Given the description of an element on the screen output the (x, y) to click on. 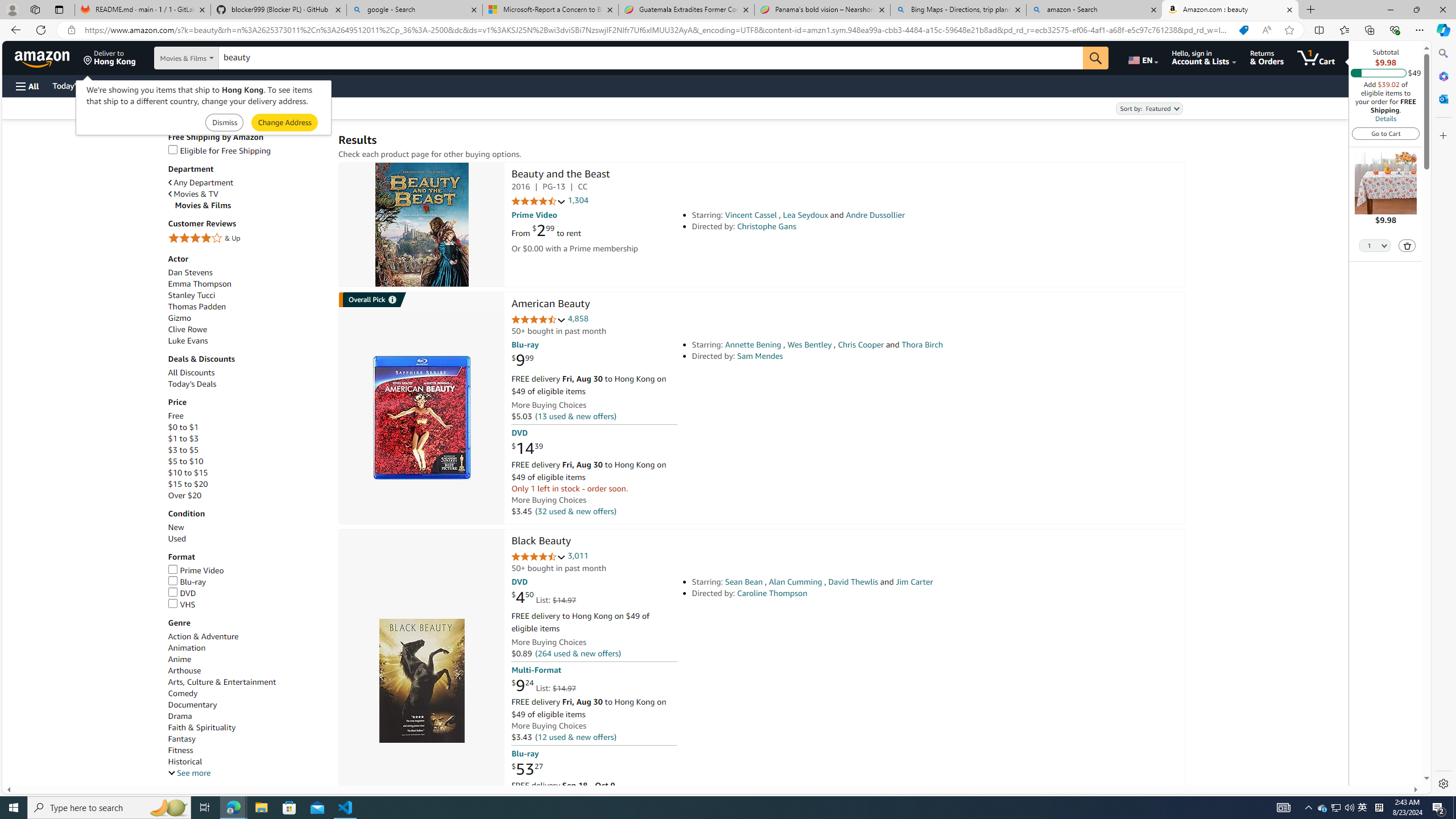
Dan Stevens (189, 272)
Delete (1407, 245)
$9.99 (522, 360)
Used (176, 538)
Jim Carter (914, 581)
Fantasy (181, 738)
Caroline Thompson (772, 593)
Eligible for Free Shipping (218, 150)
Drama (179, 715)
American Beauty (421, 417)
